Given the description of an element on the screen output the (x, y) to click on. 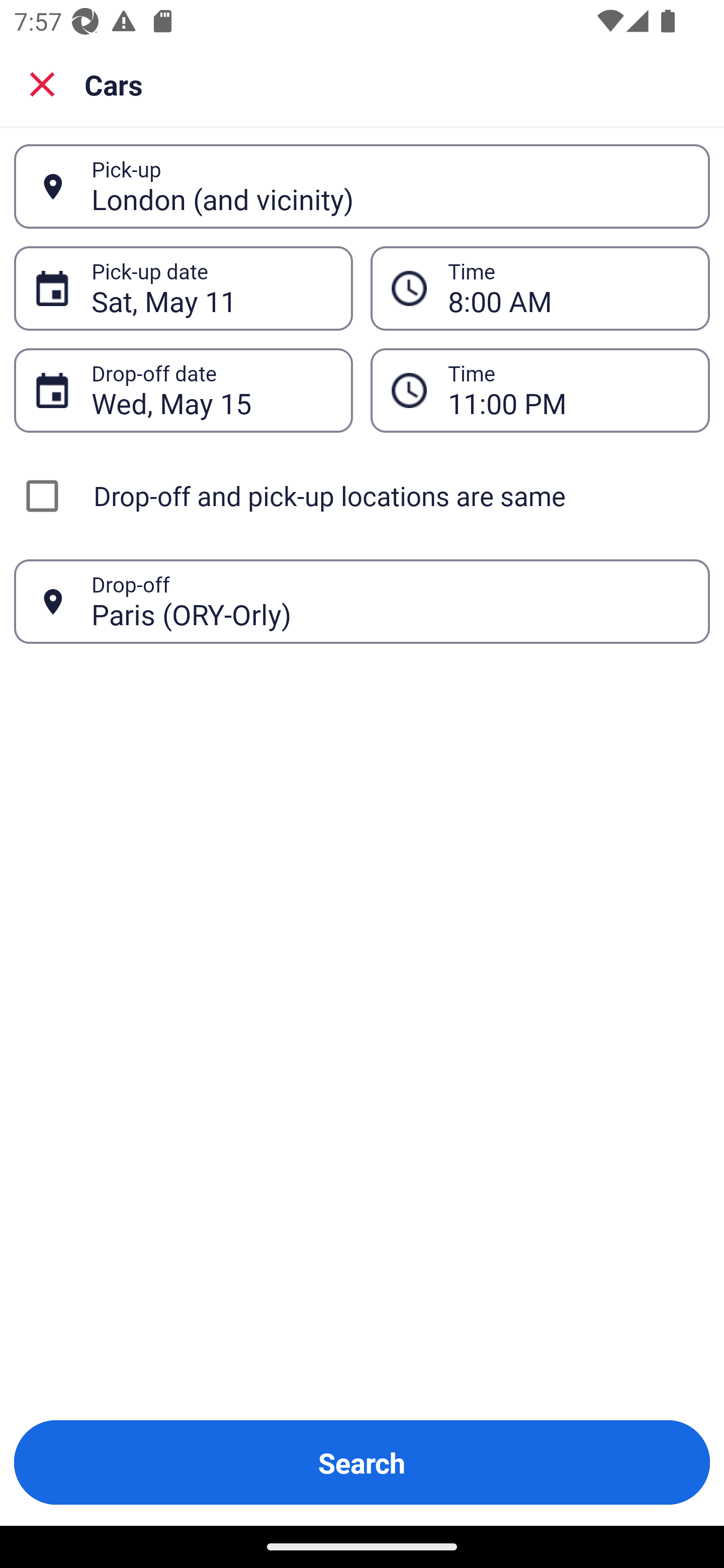
Close search screen (41, 83)
London (and vicinity) Pick-up (361, 186)
London (and vicinity) (389, 186)
Sat, May 11 Pick-up date (183, 288)
8:00 AM (540, 288)
Sat, May 11 (211, 288)
8:00 AM (568, 288)
Wed, May 15 Drop-off date (183, 390)
11:00 PM (540, 390)
Wed, May 15 (211, 390)
11:00 PM (568, 390)
Drop-off and pick-up locations are same (361, 495)
Paris (ORY-Orly) Drop-off (361, 601)
Paris (ORY-Orly) (389, 601)
Search Button Search (361, 1462)
